Given the description of an element on the screen output the (x, y) to click on. 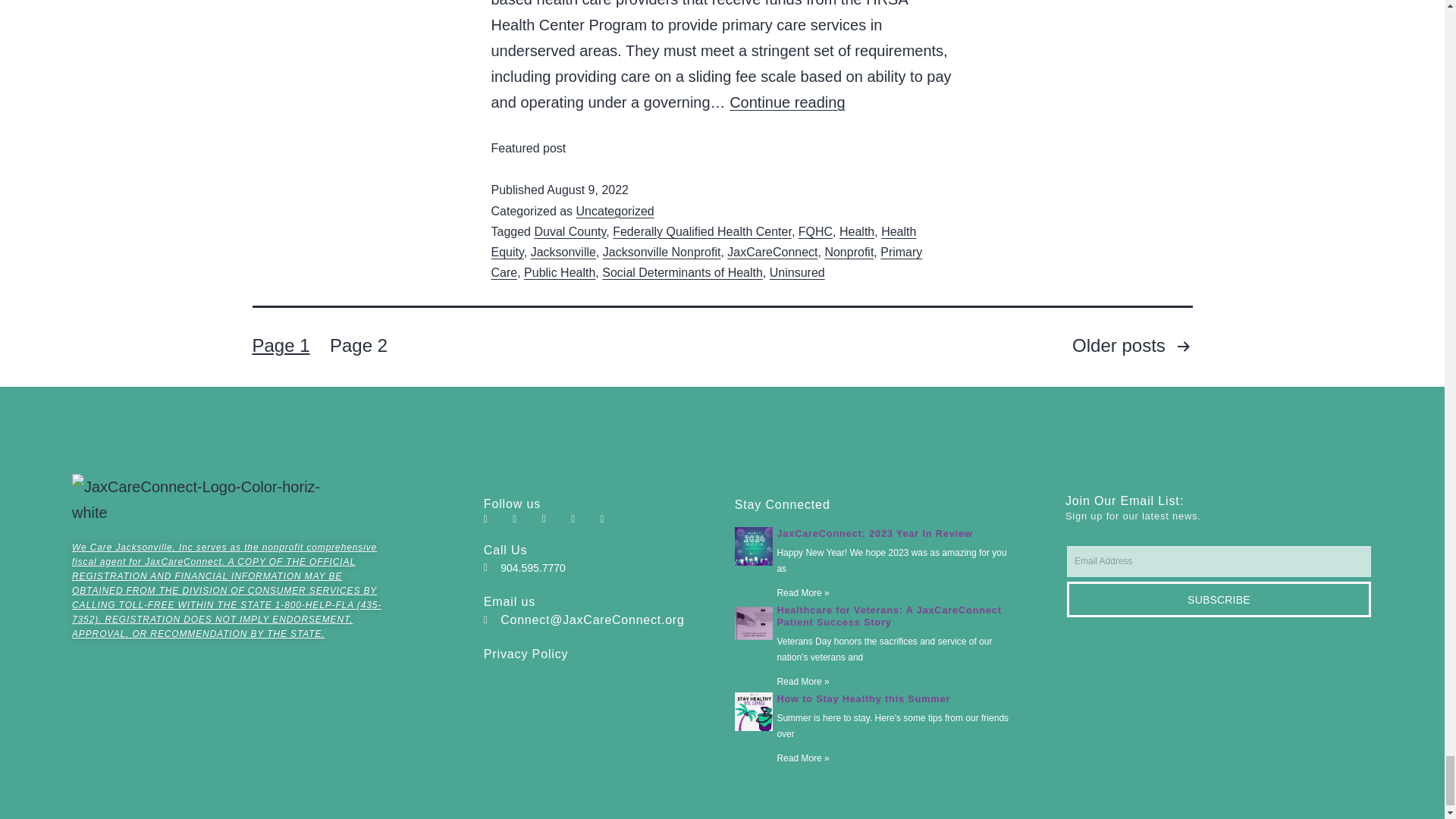
JaxCareConnect-Logo-Color-horiz-white (203, 499)
